Given the description of an element on the screen output the (x, y) to click on. 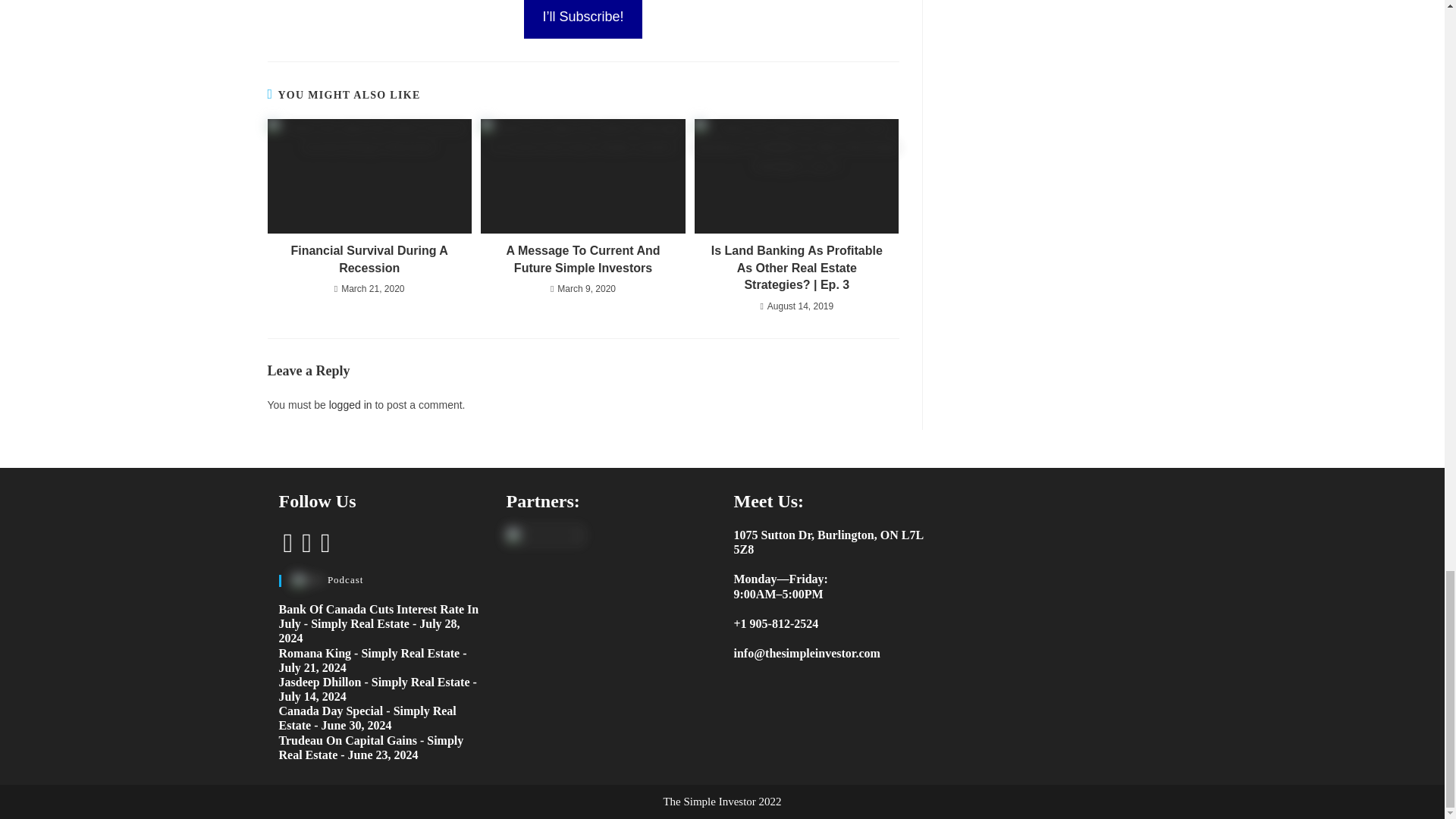
Financial Survival During A Recession (796, 259)
Where Are Interest Rates Going In North America? (582, 259)
logged in (350, 404)
